Given the description of an element on the screen output the (x, y) to click on. 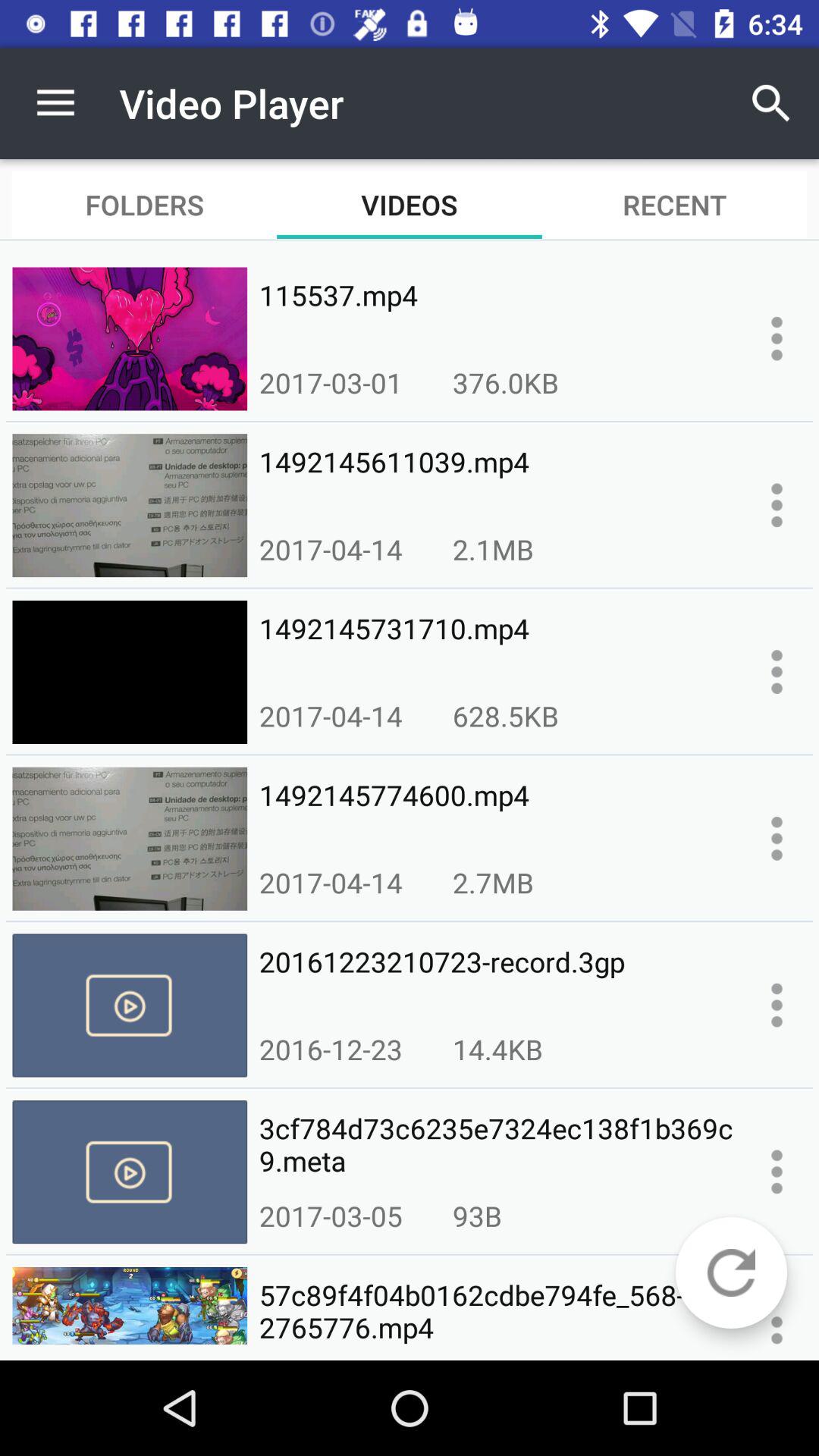
options (776, 505)
